Given the description of an element on the screen output the (x, y) to click on. 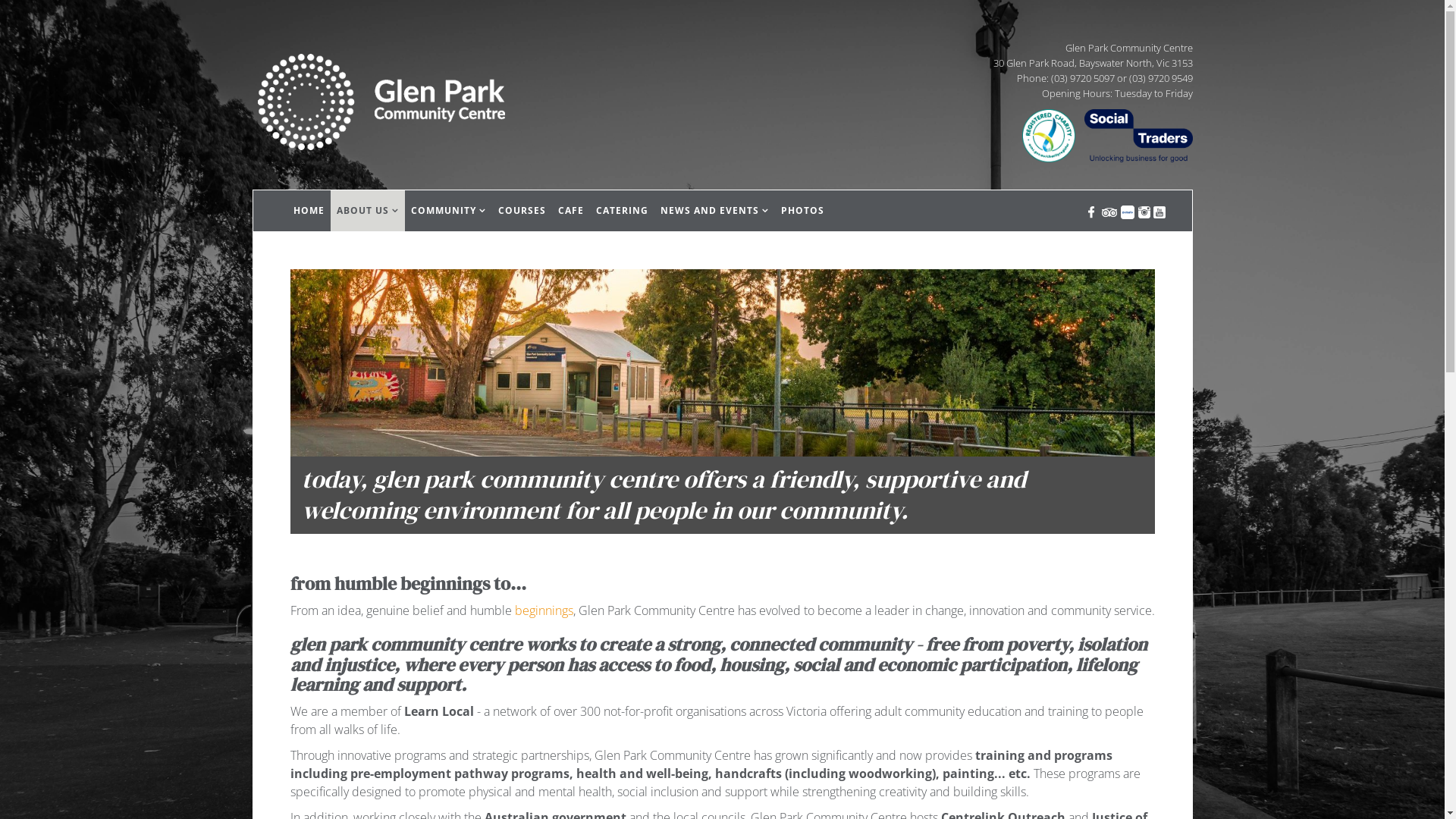
beginnings Element type: text (543, 610)
Instagram Element type: hover (1143, 210)
Glen Park Community Centre Trip Advisor Element type: hover (1108, 210)
ABOUT US Element type: text (367, 210)
PHOTOS Element type: text (802, 210)
CAFE Element type: text (570, 210)
HOME Element type: text (307, 210)
CATERING Element type: text (621, 210)
(03) 9720 5097 Element type: text (1082, 77)
COURSES Element type: text (521, 210)
COMMUNITY Element type: text (448, 210)
Glen Park Community Centre Zomato Element type: hover (1126, 210)
(03) 9720 9549 Element type: text (1160, 77)
NEWS AND EVENTS Element type: text (713, 210)
Glen Park Community Centre Facebook Element type: hover (1090, 210)
